Given the description of an element on the screen output the (x, y) to click on. 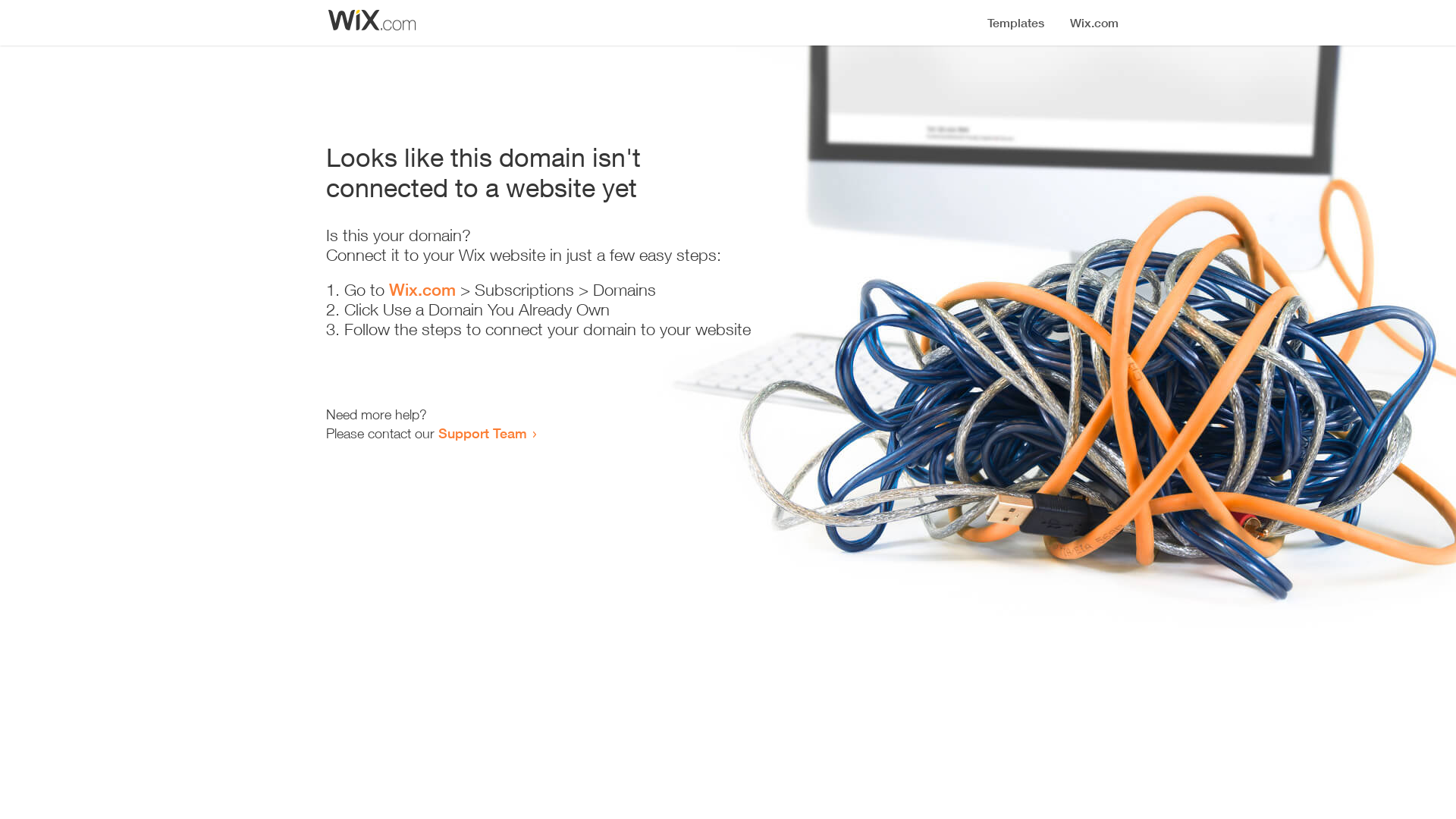
Support Team Element type: text (482, 432)
Wix.com Element type: text (422, 289)
